Given the description of an element on the screen output the (x, y) to click on. 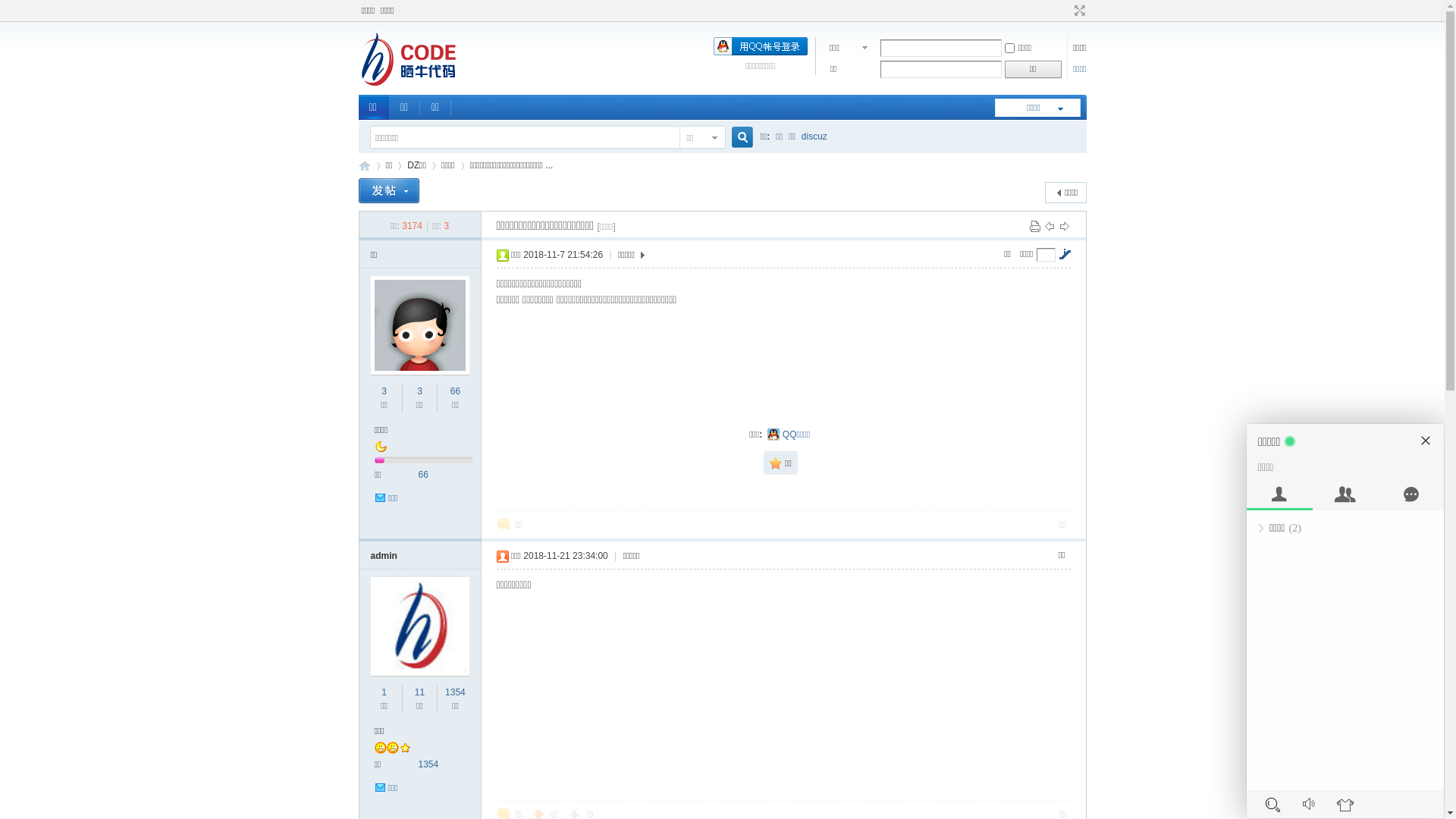
66 Element type: text (455, 390)
1354 Element type: text (428, 764)
admin Element type: text (383, 555)
3 Element type: text (383, 390)
66 Element type: text (423, 474)
1 Element type: text (383, 692)
discuz Element type: text (814, 136)
1354 Element type: text (455, 692)
11 Element type: text (419, 692)
3 Element type: text (419, 390)
true Element type: text (735, 137)
